Given the description of an element on the screen output the (x, y) to click on. 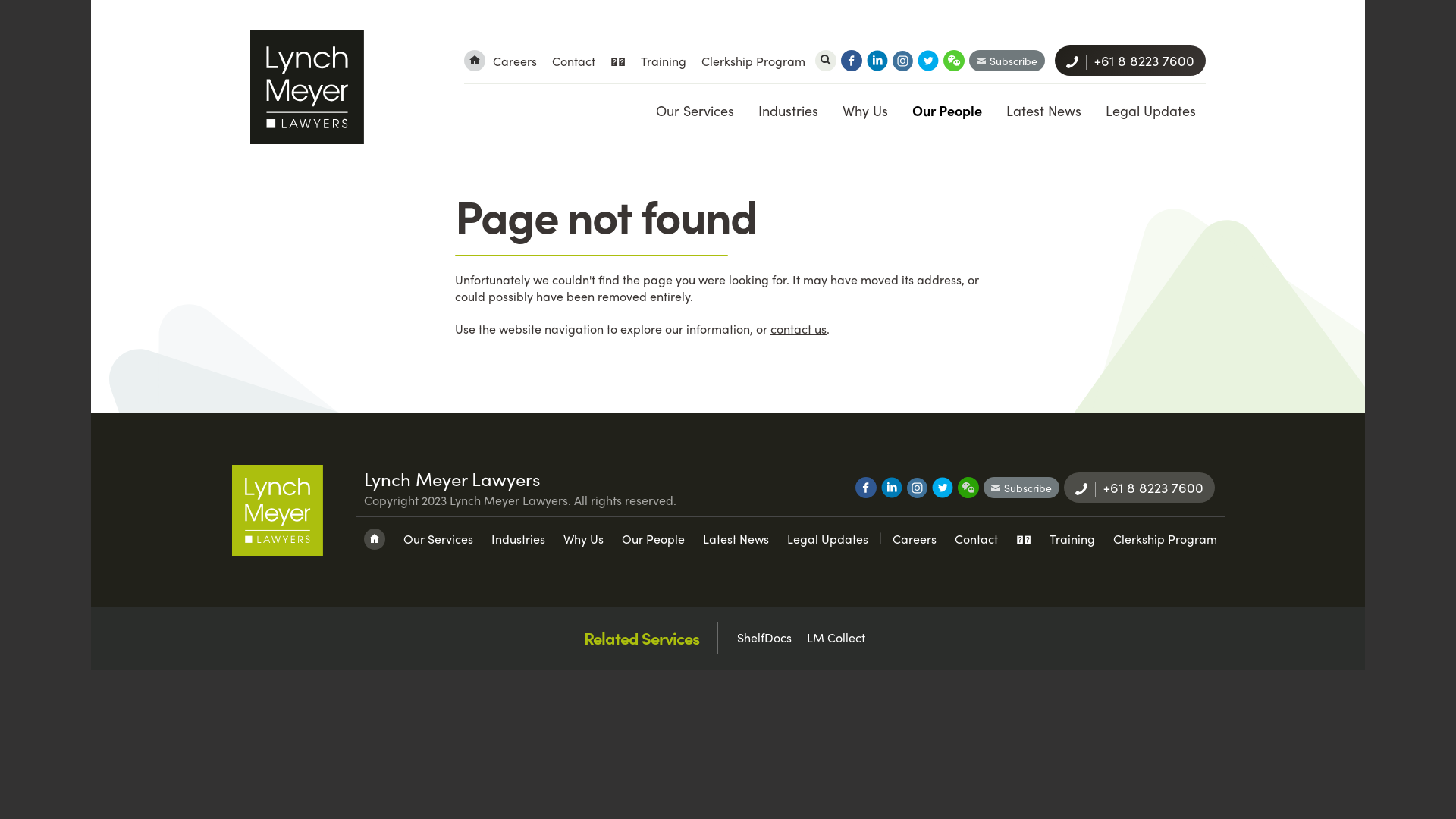
Contact Element type: text (975, 538)
Why Us Element type: text (864, 109)
Subscribe Element type: text (1006, 60)
Contact Element type: text (573, 60)
Training Element type: text (1071, 538)
Careers Element type: text (514, 60)
LM Collect Element type: text (835, 637)
Industries Element type: text (787, 109)
Latest News Element type: text (1043, 109)
Subscribe Element type: text (1020, 487)
Clerkship Program Element type: text (1164, 538)
Careers Element type: text (913, 538)
+61 8 8223 7600 Element type: text (1129, 60)
contact us Element type: text (798, 328)
Legal Updates Element type: text (1150, 109)
+61 8 8223 7600 Element type: text (1138, 487)
Our Services Element type: text (437, 538)
Our People Element type: text (653, 538)
Industries Element type: text (517, 538)
Latest News Element type: text (734, 538)
ShelfDocs Element type: text (764, 637)
Legal Updates Element type: text (827, 538)
Our People Element type: text (946, 109)
Why Us Element type: text (582, 538)
Our Services Element type: text (694, 109)
Clerkship Program Element type: text (753, 60)
Training Element type: text (663, 60)
